Given the description of an element on the screen output the (x, y) to click on. 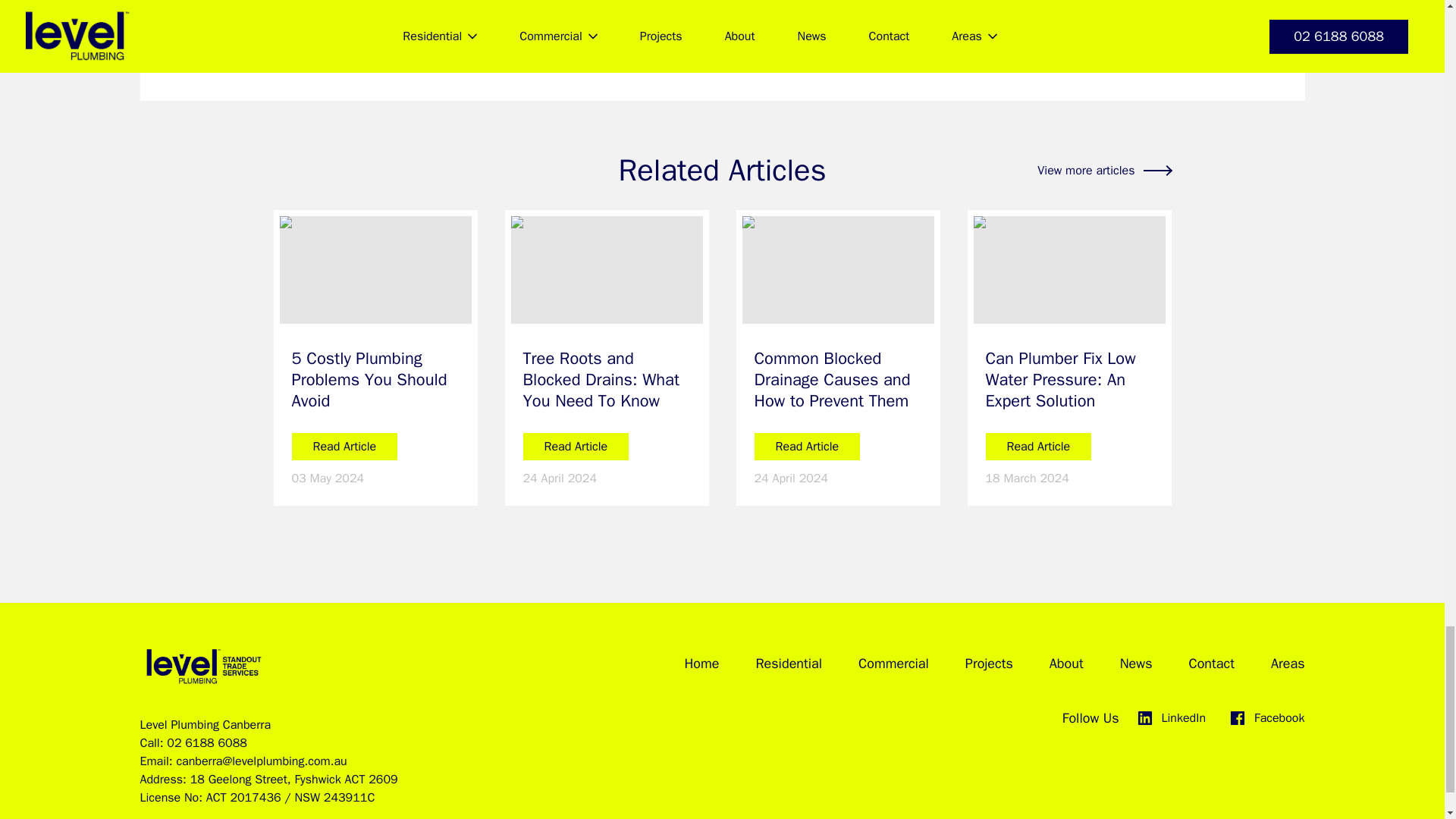
Share on LinkedIn (565, 49)
Share on Facebook (526, 49)
